Given the description of an element on the screen output the (x, y) to click on. 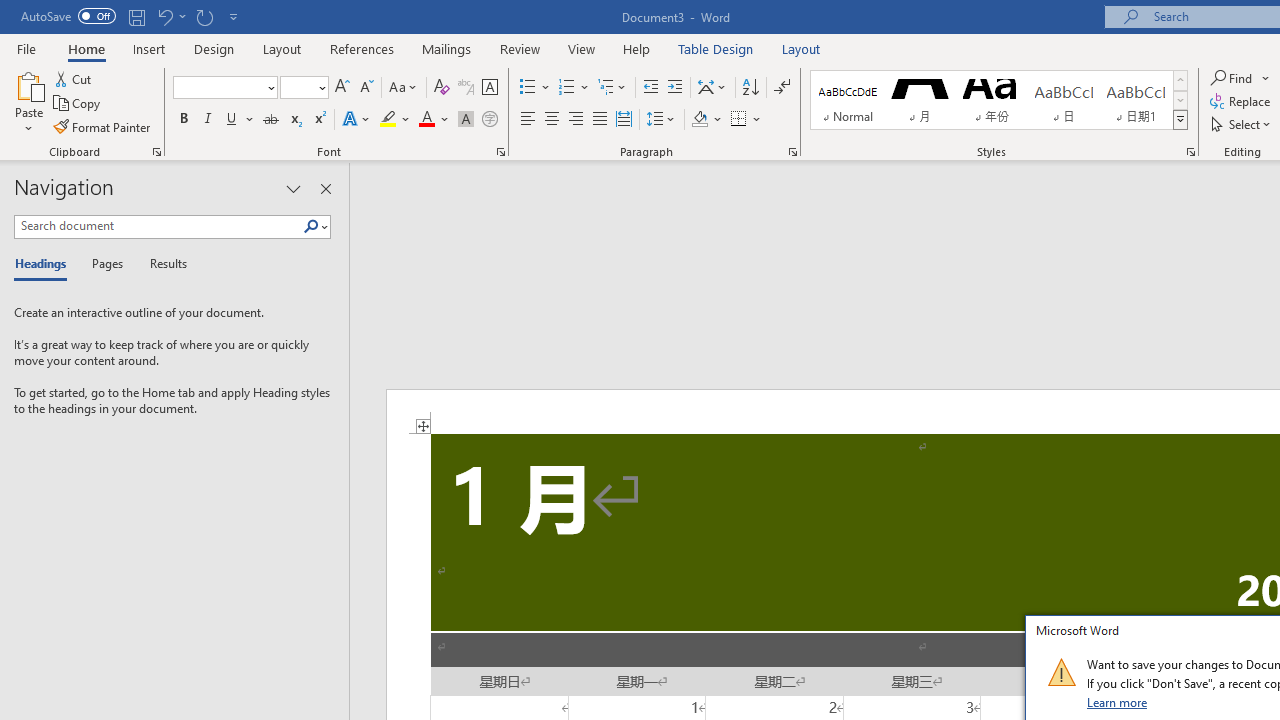
Repeat Text Fill Effect (204, 15)
Align Left (527, 119)
